Given the description of an element on the screen output the (x, y) to click on. 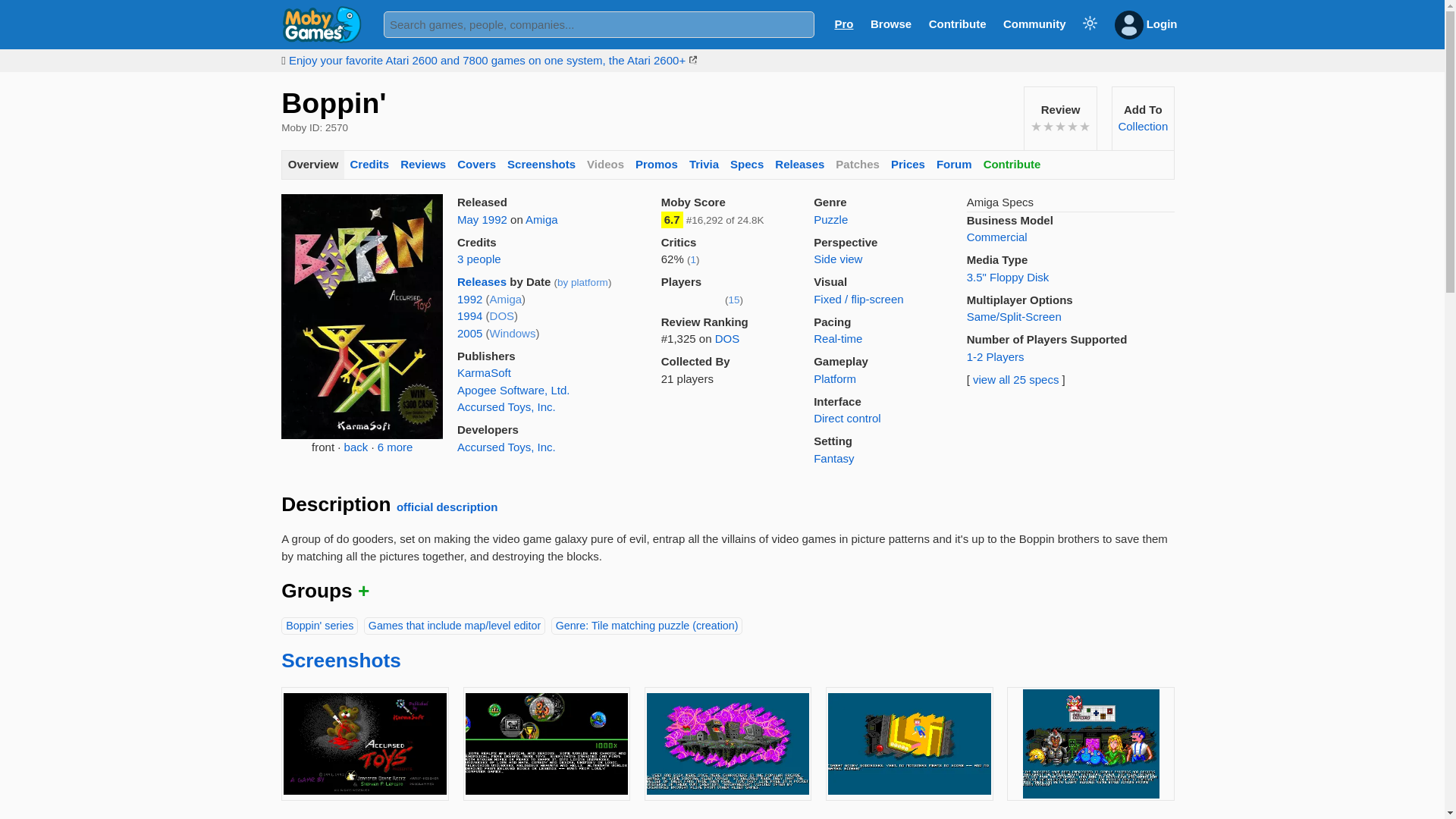
Credits (368, 165)
Overview (312, 165)
Screenshots (541, 165)
Reviews (422, 165)
Covers (476, 165)
Videos (605, 165)
Collection (1142, 125)
Pro (843, 23)
